Given the description of an element on the screen output the (x, y) to click on. 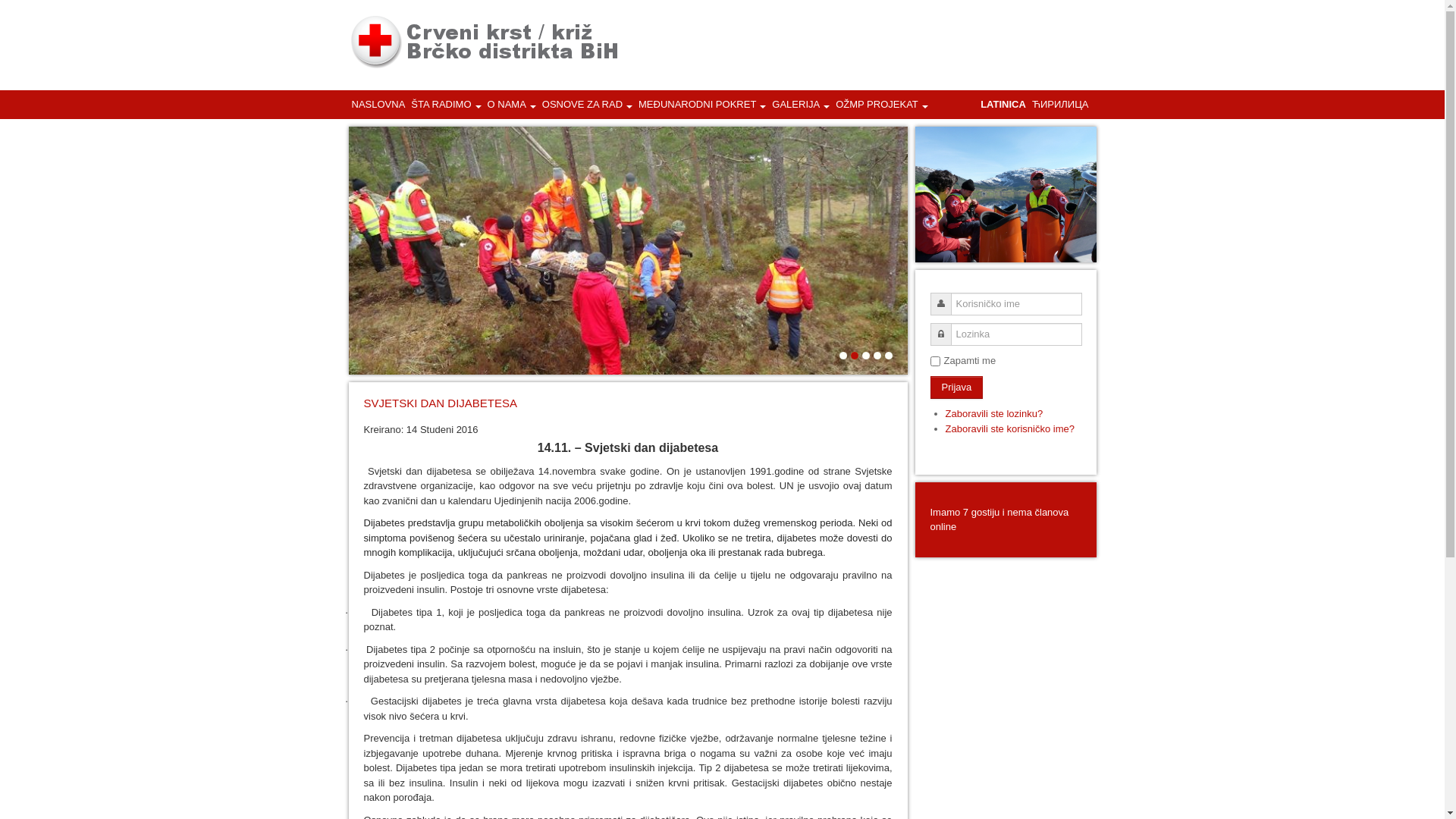
LATINICA Element type: text (1003, 103)
Prijava Element type: text (955, 387)
NASLOVNA Element type: text (378, 103)
OSNOVE ZA RAD Element type: text (587, 103)
Zaboravili ste lozinku? Element type: text (993, 413)
GALERIJA Element type: text (800, 103)
Crveni krst / kriz Element type: hover (483, 42)
O NAMA Element type: text (511, 103)
Lozinka Element type: hover (940, 333)
SVJETSKI DAN DIJABETESA Element type: text (440, 402)
